Given the description of an element on the screen output the (x, y) to click on. 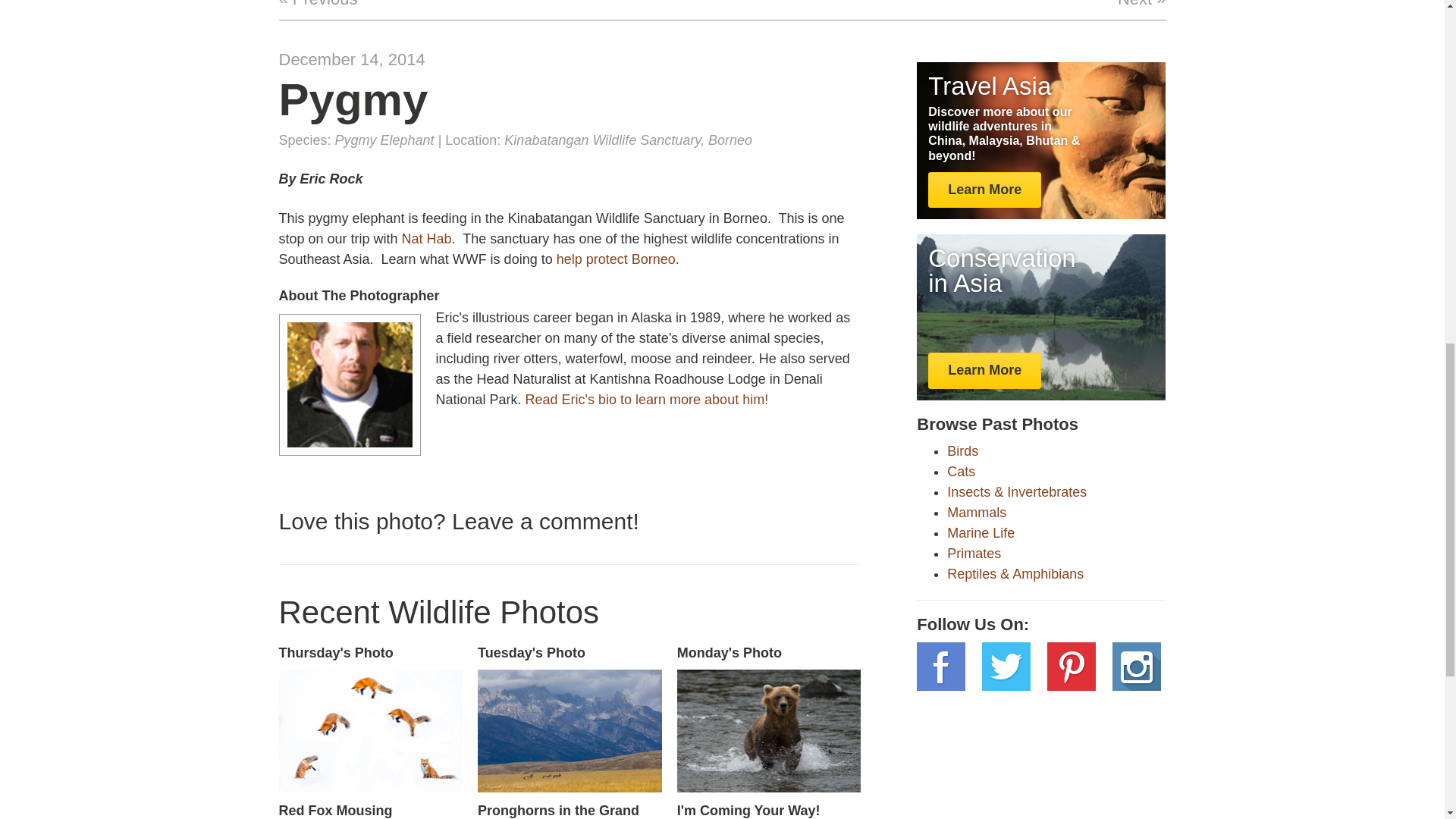
Learn More (984, 189)
Birds (569, 732)
Mammals (962, 450)
Primates (976, 512)
Cats (974, 553)
Nat Hab (769, 732)
help protect Borneo (961, 471)
Marine Life (426, 238)
Read Eric's bio to learn more about him! (615, 258)
Learn More (370, 732)
